Given the description of an element on the screen output the (x, y) to click on. 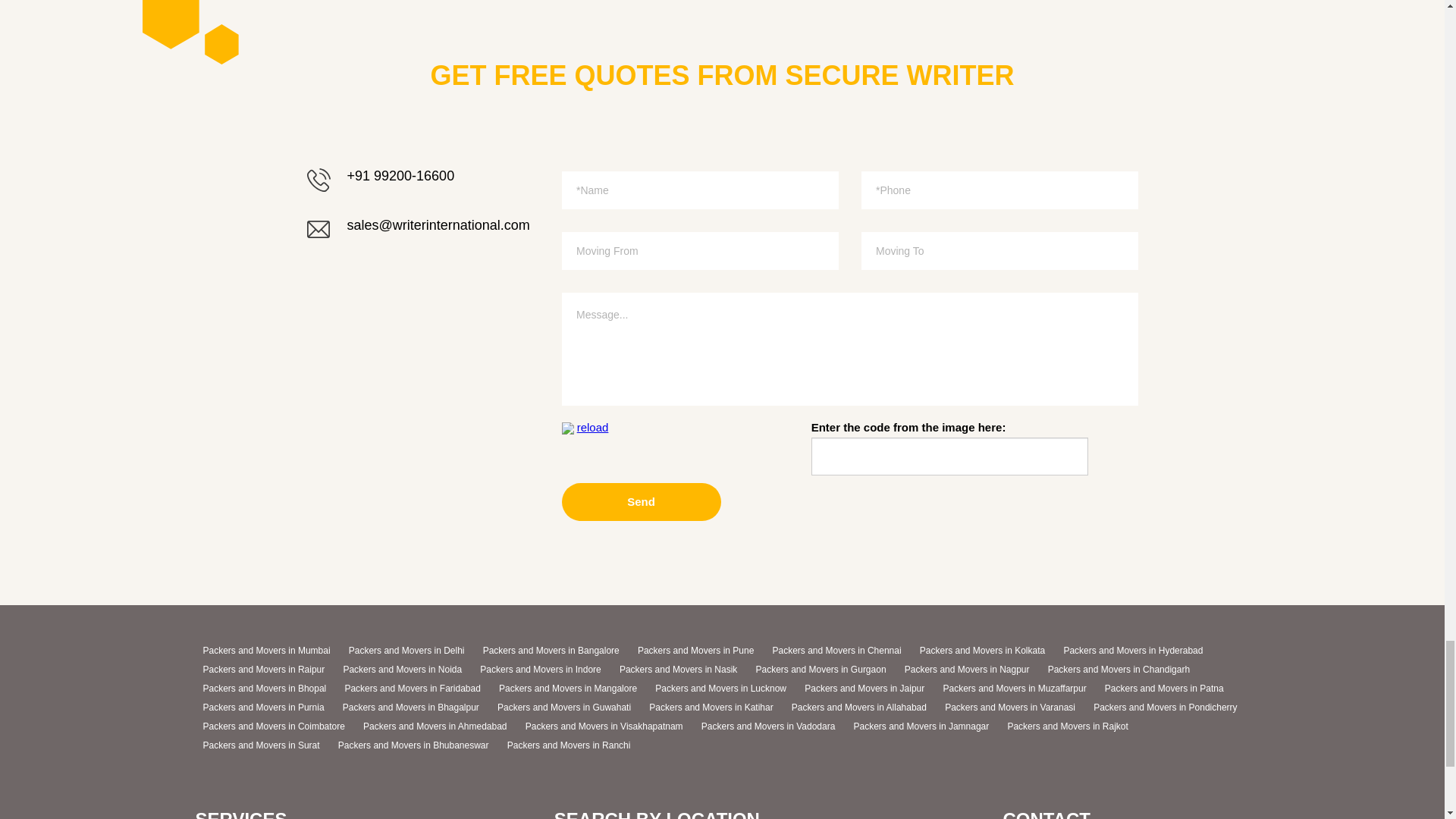
Send (640, 501)
